Given the description of an element on the screen output the (x, y) to click on. 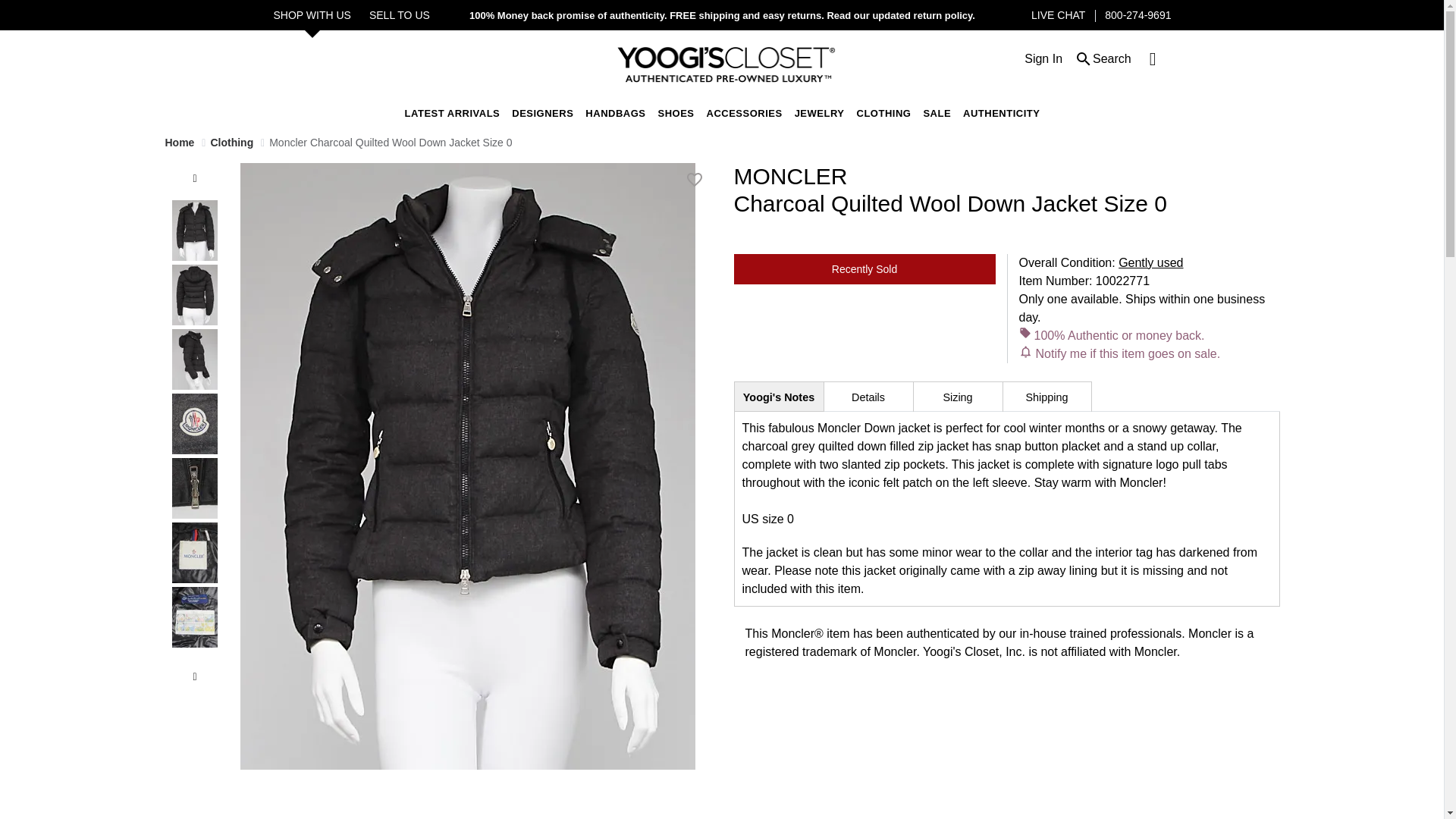
Bell Outline icon (1025, 350)
800-274-9691 (1137, 15)
SHOP WITH US (311, 15)
Magnify icon (1083, 58)
SELL TO US (399, 15)
Add to Favorites (694, 178)
LATEST ARRIVALS (452, 112)
LIVE CHAT (1057, 15)
DESIGNERS (542, 112)
Tag icon (1024, 331)
